Given the description of an element on the screen output the (x, y) to click on. 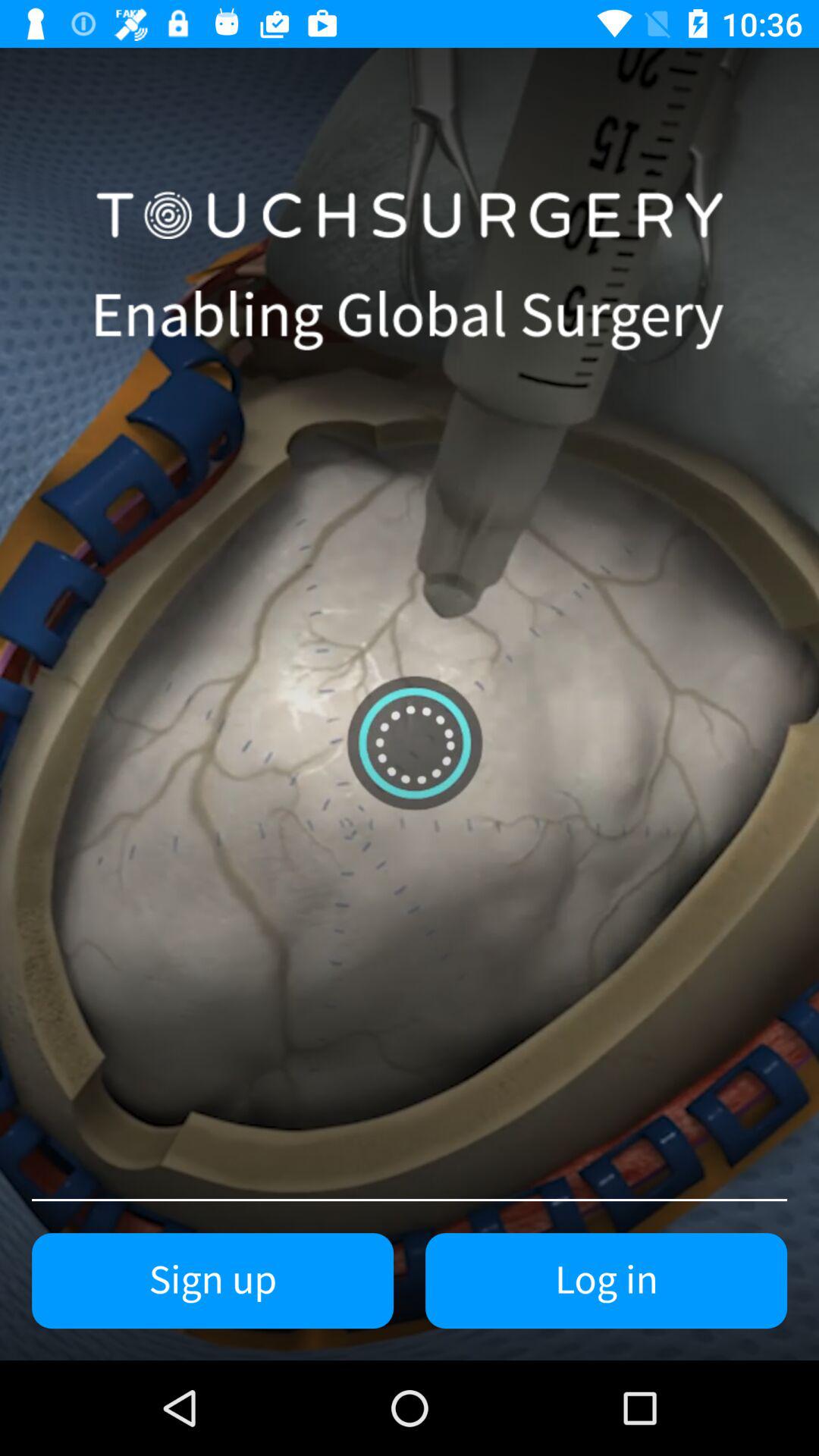
turn on icon next to the log in (212, 1280)
